Given the description of an element on the screen output the (x, y) to click on. 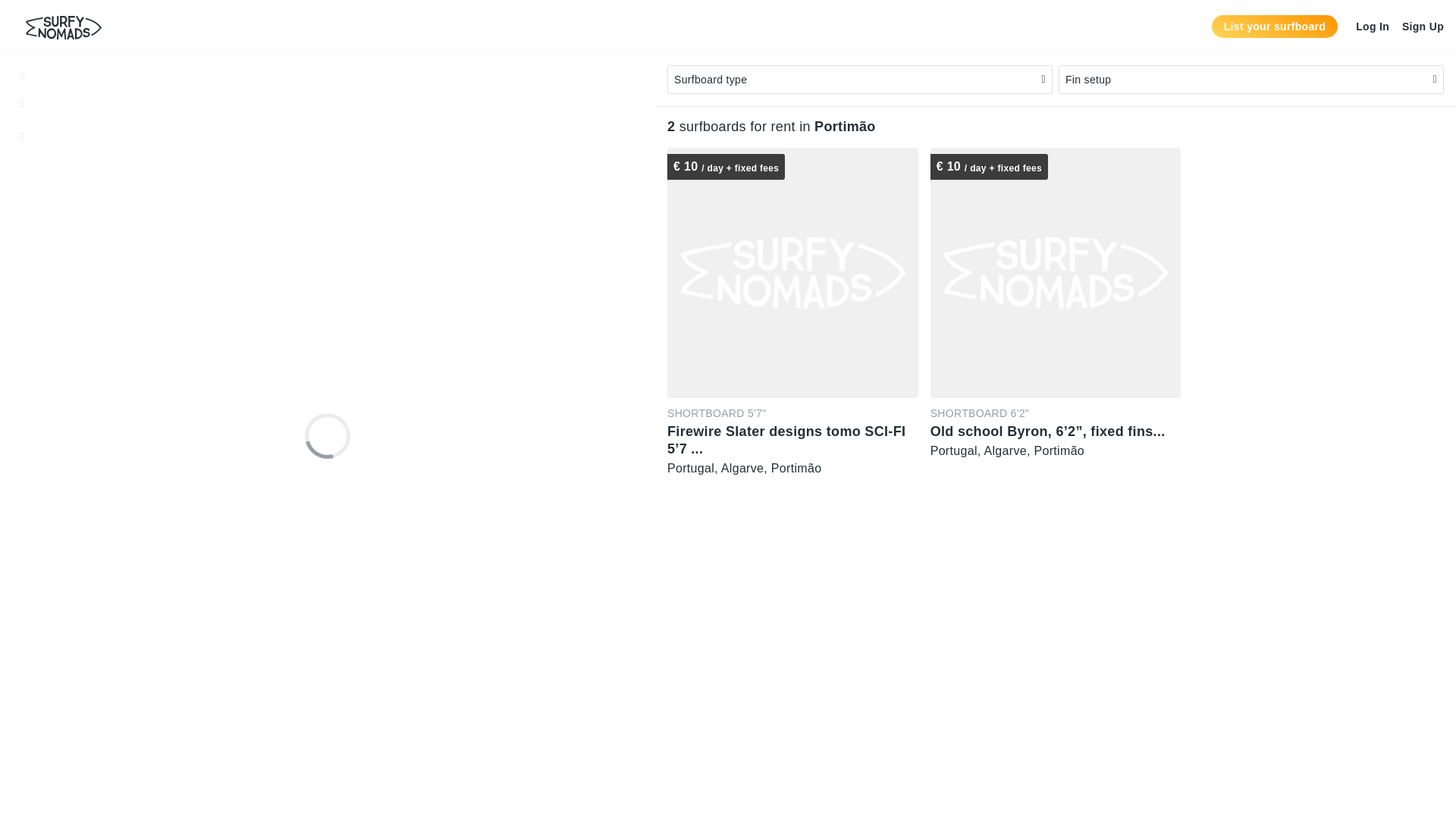
List your surfboard (1274, 26)
Surfy Nomads surf rental (62, 27)
List your surfboard (1274, 26)
Surfy Nomads surf rental (62, 27)
